Given the description of an element on the screen output the (x, y) to click on. 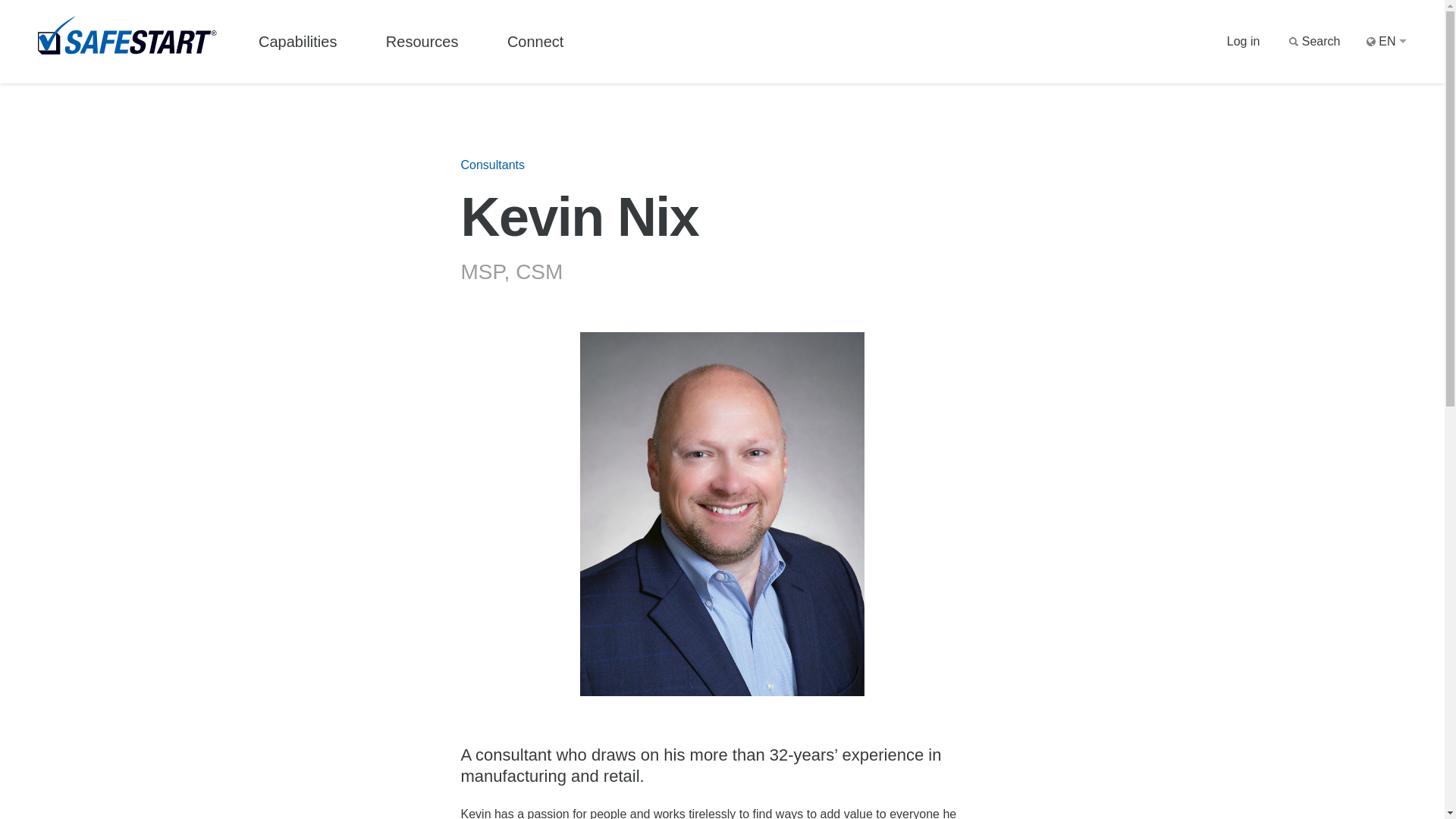
Log in (1243, 41)
EN (1386, 41)
  Search (1312, 41)
Capabilities (297, 41)
Resources (421, 41)
Connect (535, 41)
